Given the description of an element on the screen output the (x, y) to click on. 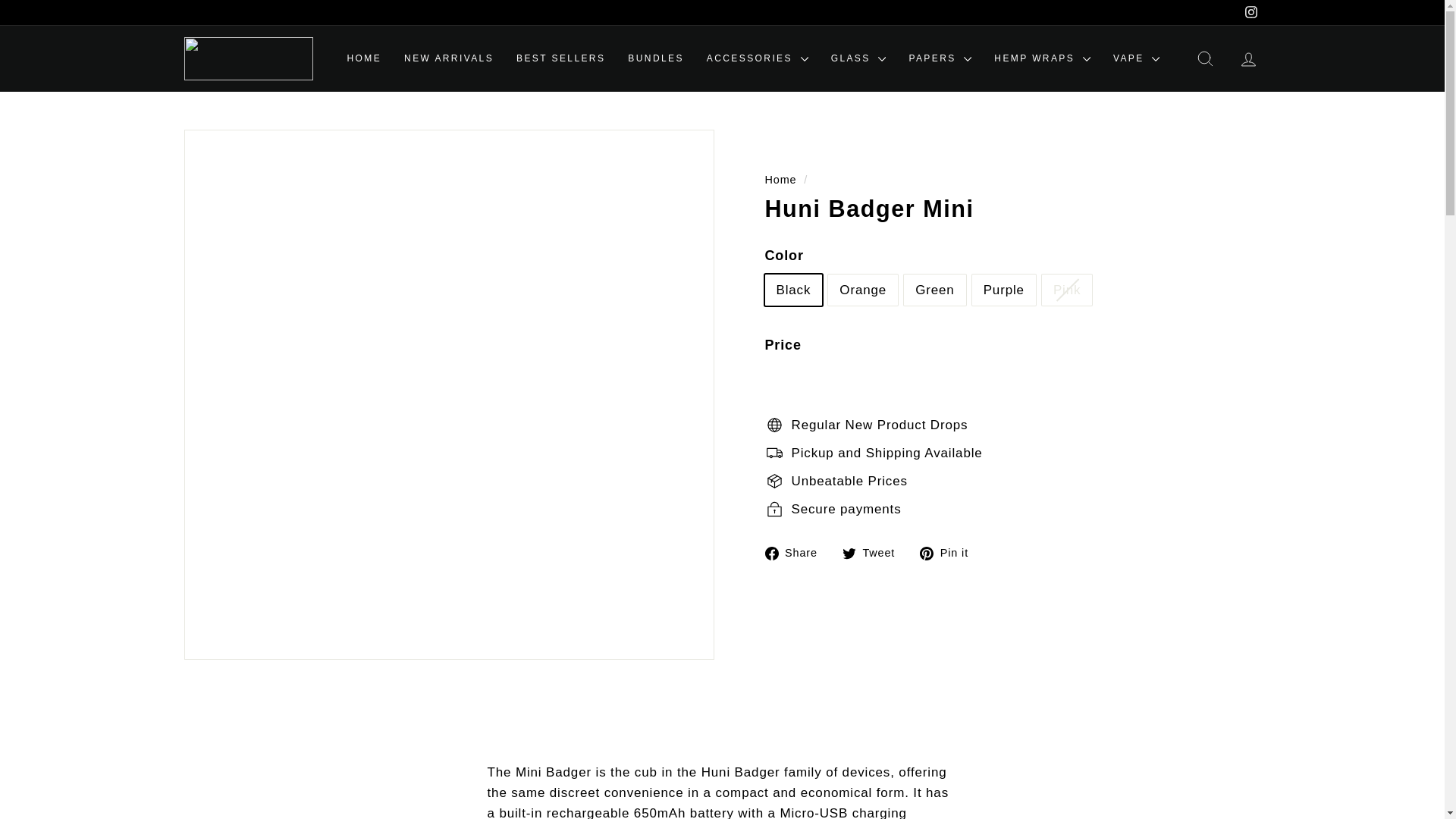
Tweet on Twitter (874, 552)
BEST SELLERS (560, 58)
Back to the frontpage (780, 179)
HOME (363, 58)
Pin on Pinterest (949, 552)
Share on Facebook (796, 552)
twitter (849, 553)
NEW ARRIVALS (449, 58)
BUNDLES (654, 58)
instagram (1250, 11)
